Given the description of an element on the screen output the (x, y) to click on. 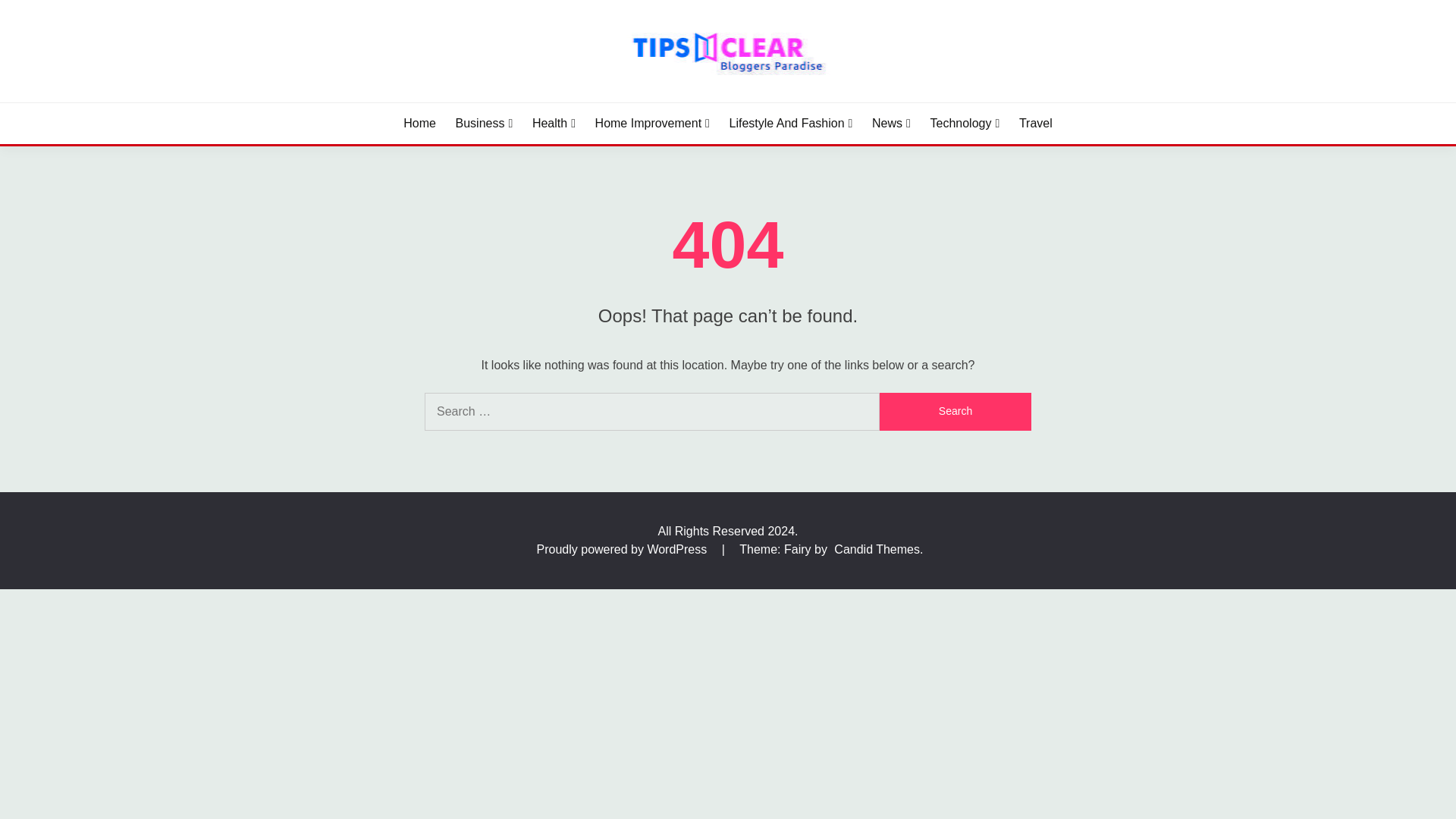
Business (484, 123)
Search (954, 411)
Health (553, 123)
Home Improvement (652, 123)
Lifestyle And Fashion (791, 123)
Search (954, 411)
Home (419, 123)
